Given the description of an element on the screen output the (x, y) to click on. 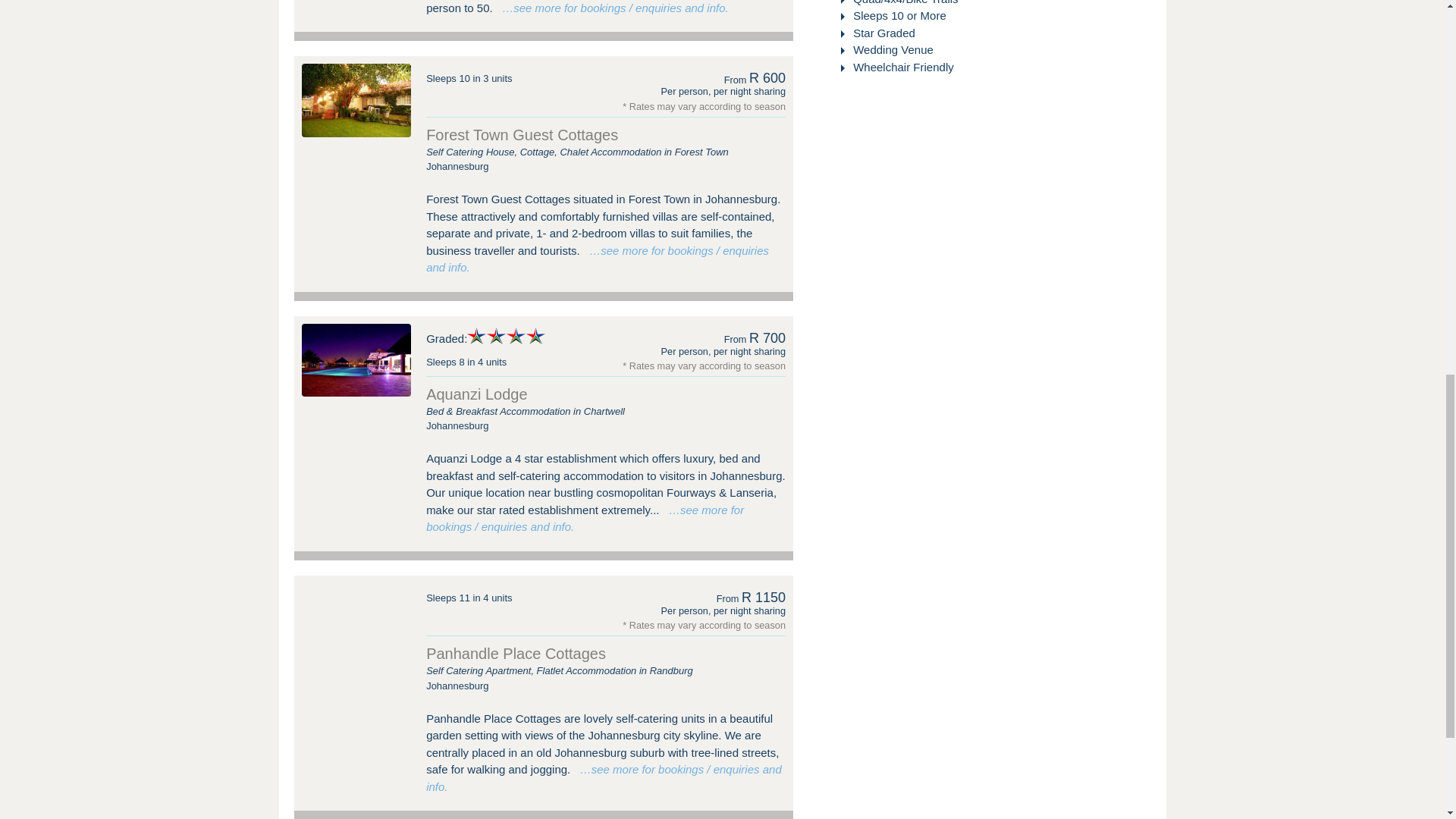
Forest Town Guest Cottages (356, 99)
Panhandle Place Cottages (356, 619)
Aquanzi Lodge (356, 359)
Wheelchair Friendly (901, 66)
Star Graded (882, 32)
Wedding Venue (891, 49)
Sleeps 10 or More (898, 15)
